Given the description of an element on the screen output the (x, y) to click on. 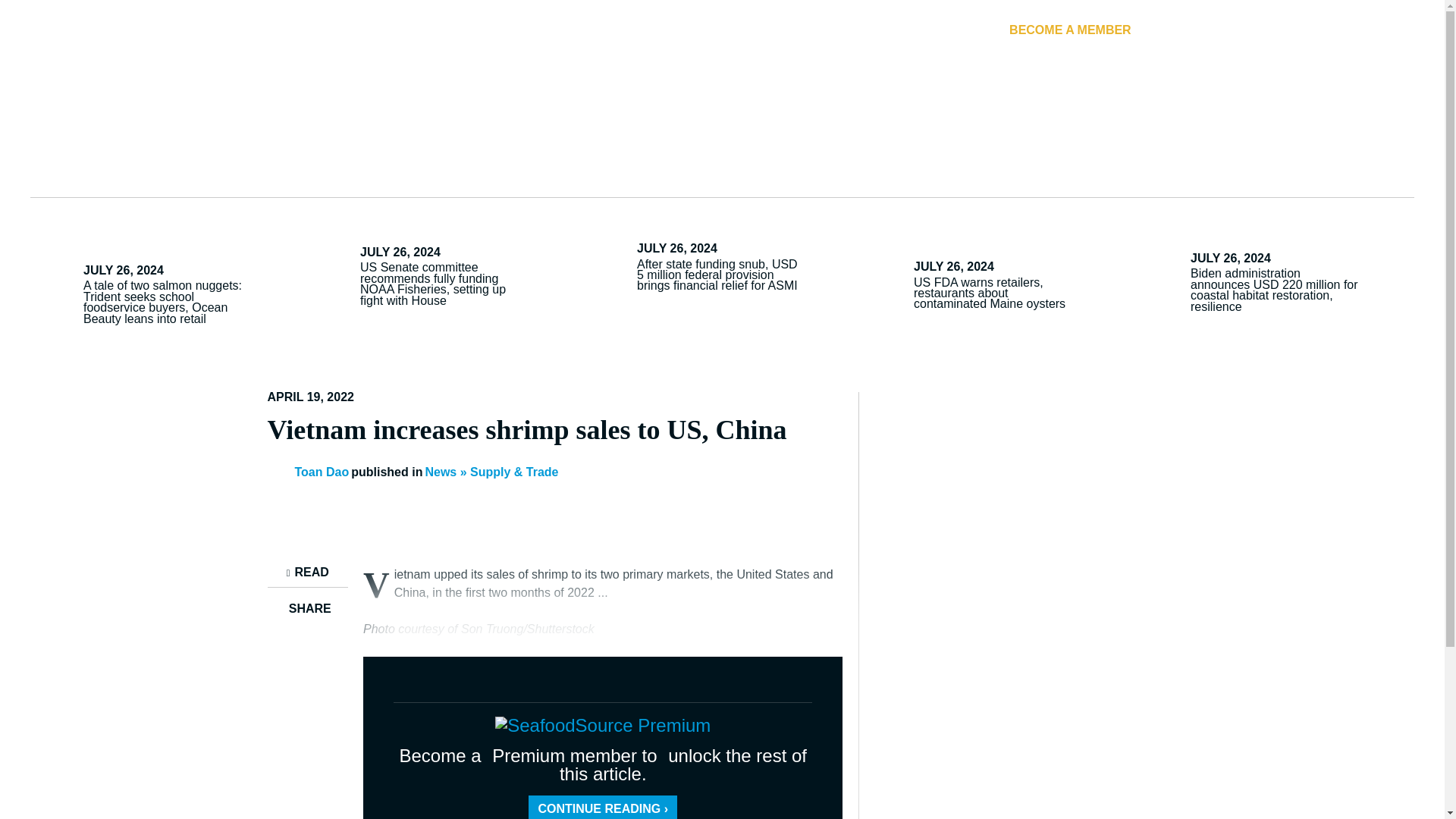
CLASSIFIEDS (935, 90)
NEWSLETTER (1248, 29)
PRODUCT SHOWCASE (588, 90)
SEARCH (1385, 29)
EXPOS (1236, 90)
Your cart (1324, 29)
LOG IN (1167, 29)
NEWS (189, 90)
Log in (1167, 29)
Subscribe to our newsletter (1248, 29)
HOME (100, 90)
SeafoodSource (721, 30)
